Given the description of an element on the screen output the (x, y) to click on. 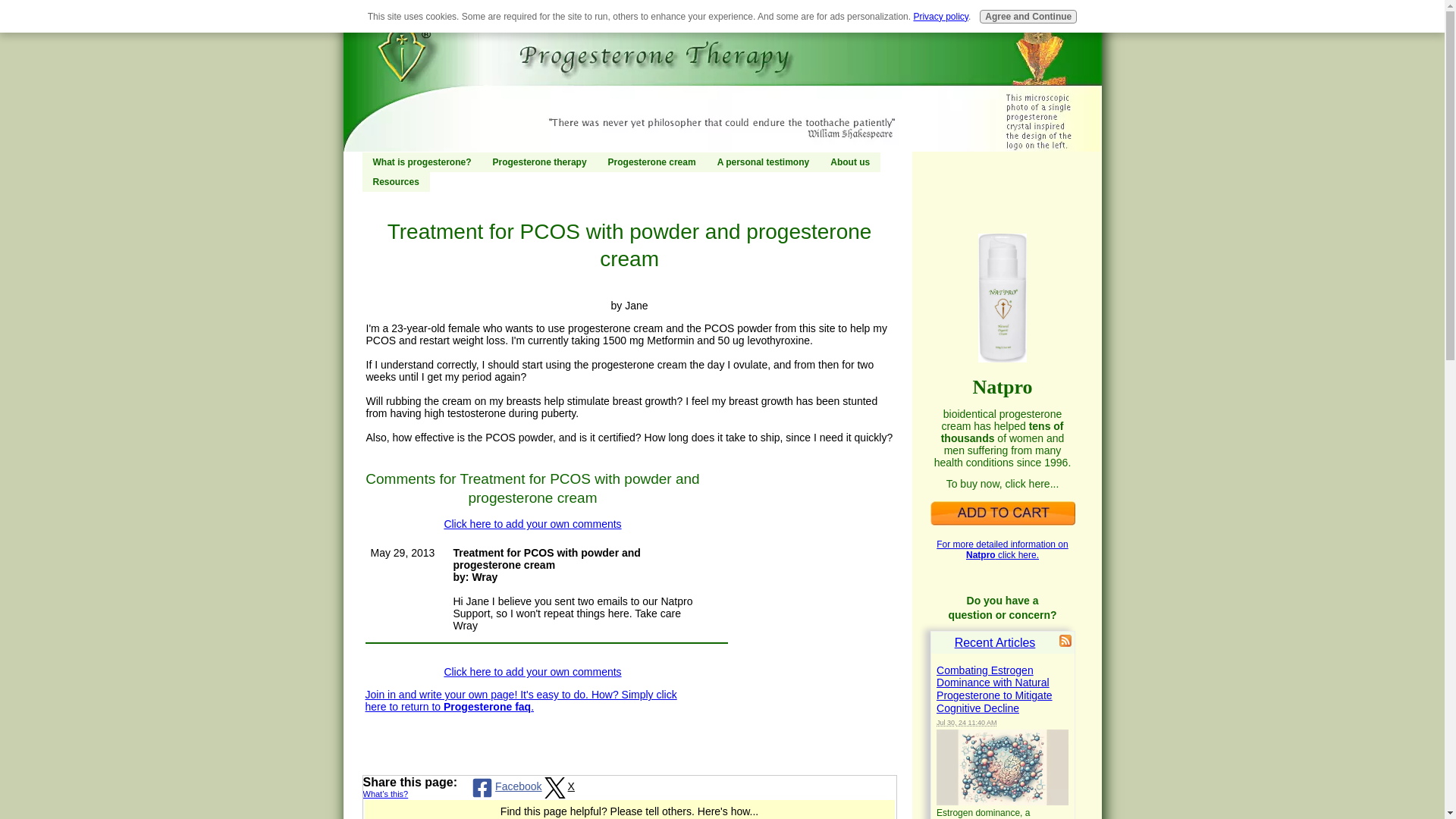
2024-07-30T11:40:51-0400 (966, 722)
Natpro progesterone cream (1002, 513)
